Given the description of an element on the screen output the (x, y) to click on. 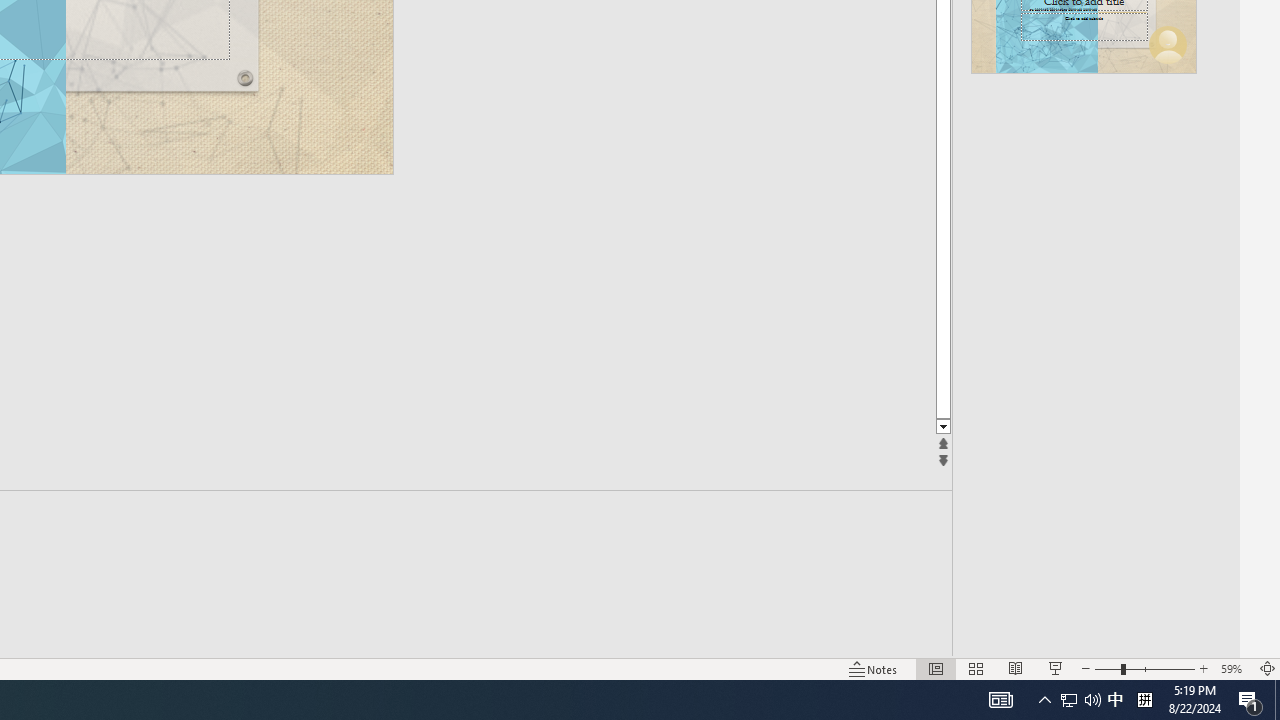
Zoom 59% (1234, 668)
